Given the description of an element on the screen output the (x, y) to click on. 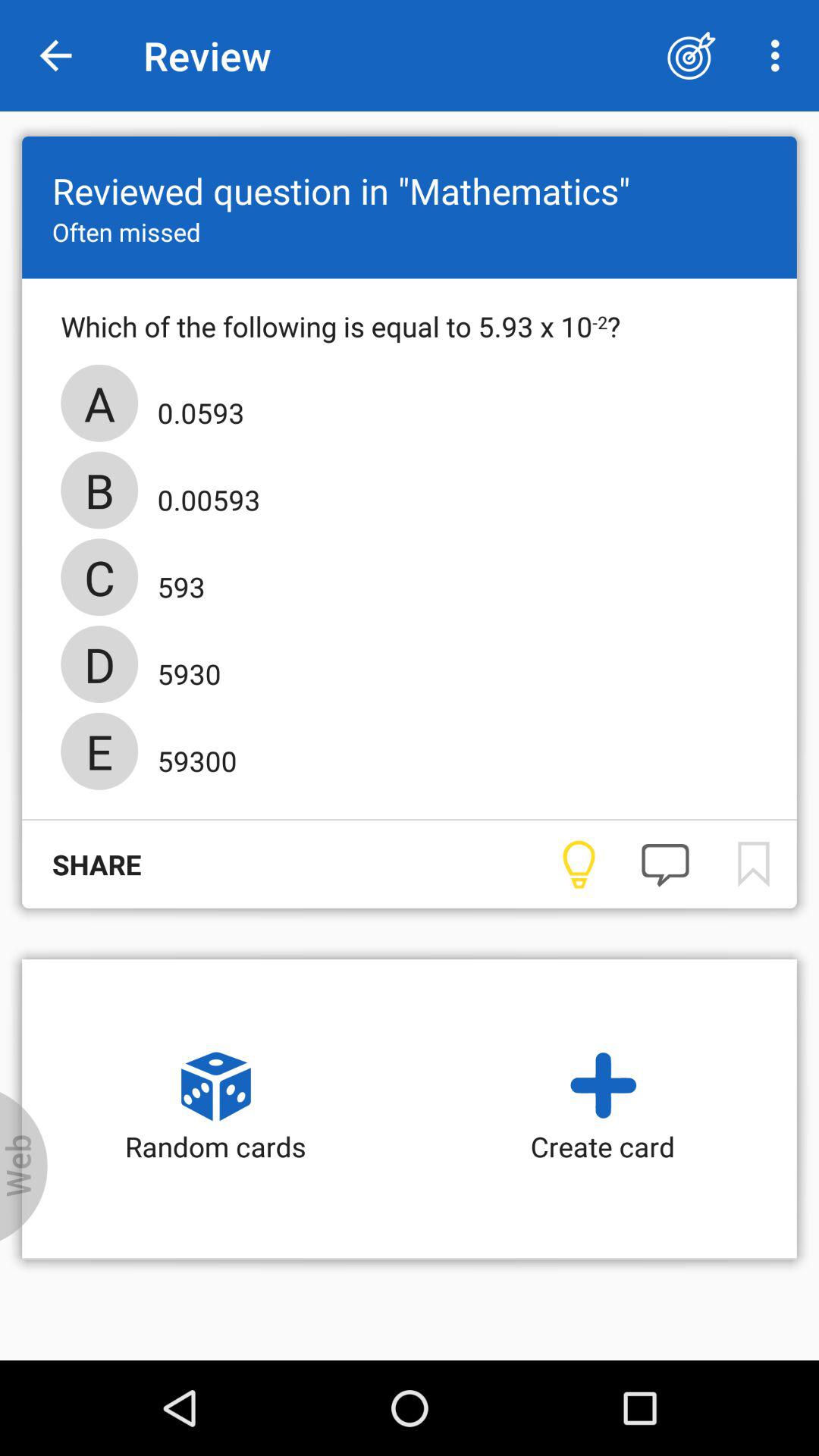
launch icon below the share icon (23, 1166)
